Given the description of an element on the screen output the (x, y) to click on. 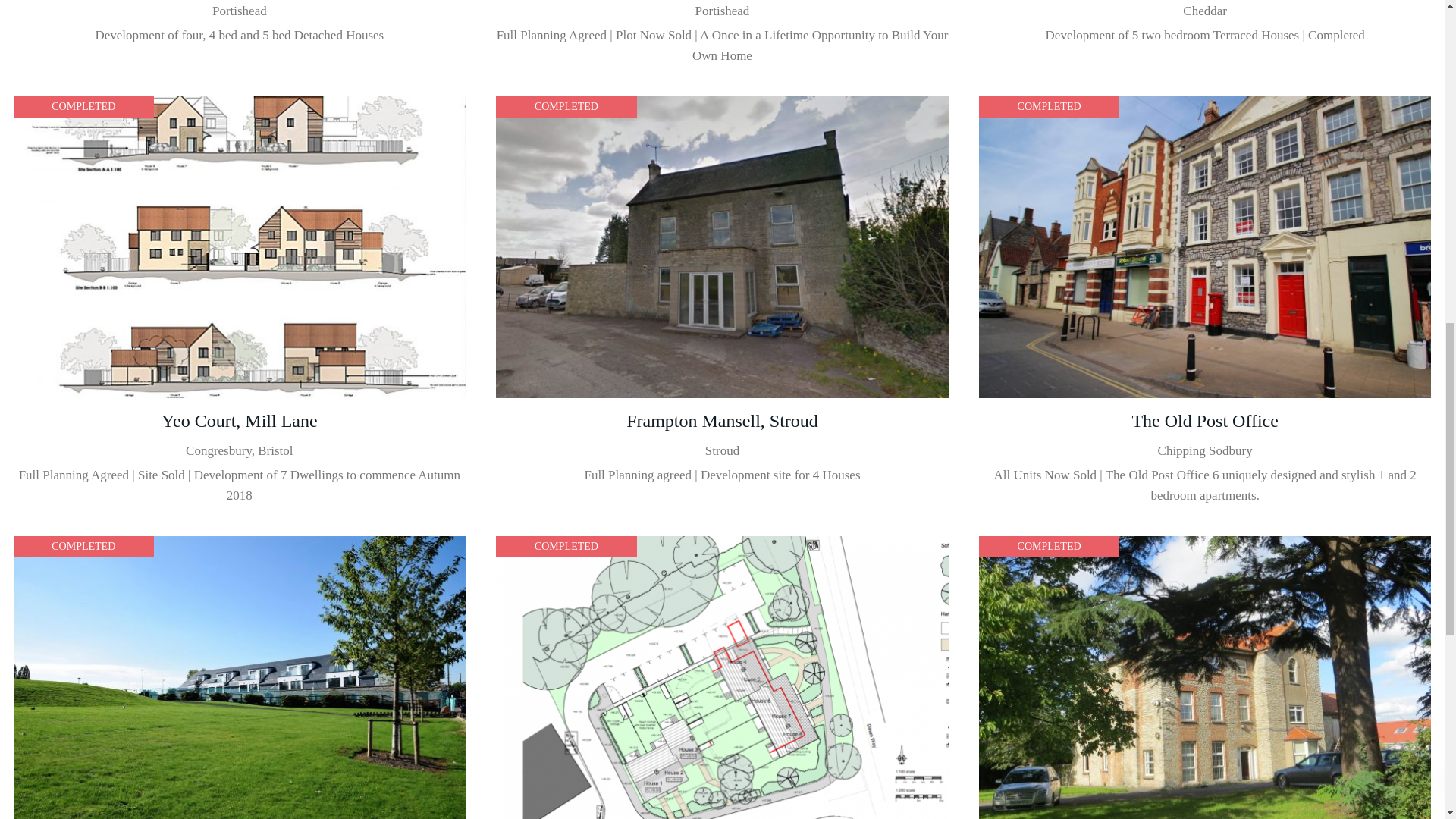
Woodhill Road (239, 36)
Seaview Rd (721, 36)
Redcliffe Street, Cheddar (1205, 36)
